Given the description of an element on the screen output the (x, y) to click on. 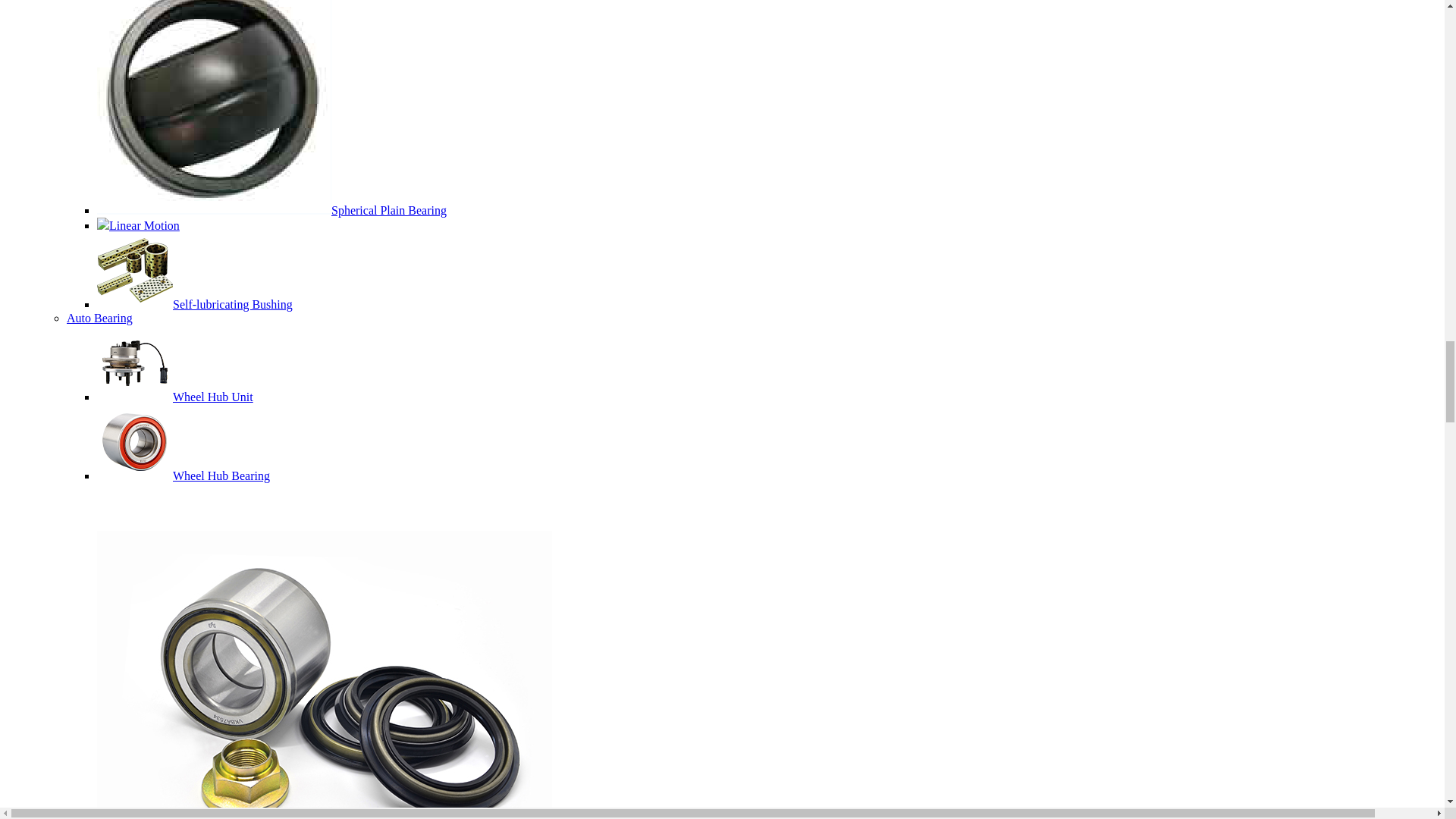
Auto Bearing (99, 318)
